Given the description of an element on the screen output the (x, y) to click on. 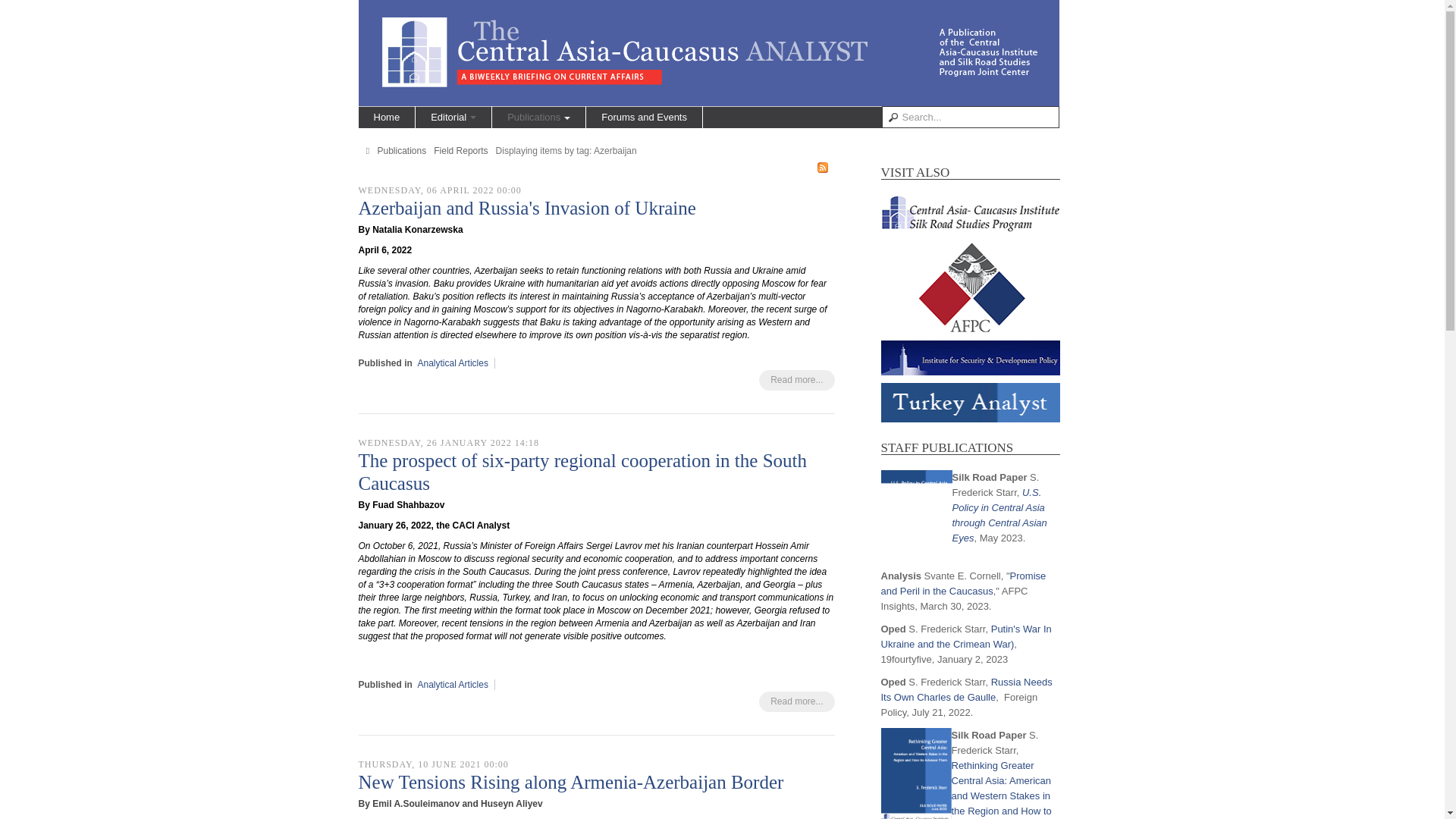
Azerbaijan and Russia's Invasion of Ukraine (526, 208)
Read more... (796, 701)
Forums and Events (643, 117)
Subscribe to this RSS feed (821, 167)
The first meeting (437, 610)
Analytical Articles (452, 684)
Analytical Articles (452, 362)
New Tensions Rising along Armenia-Azerbaijan Border (570, 782)
Read more... (796, 380)
Publications (538, 117)
